Given the description of an element on the screen output the (x, y) to click on. 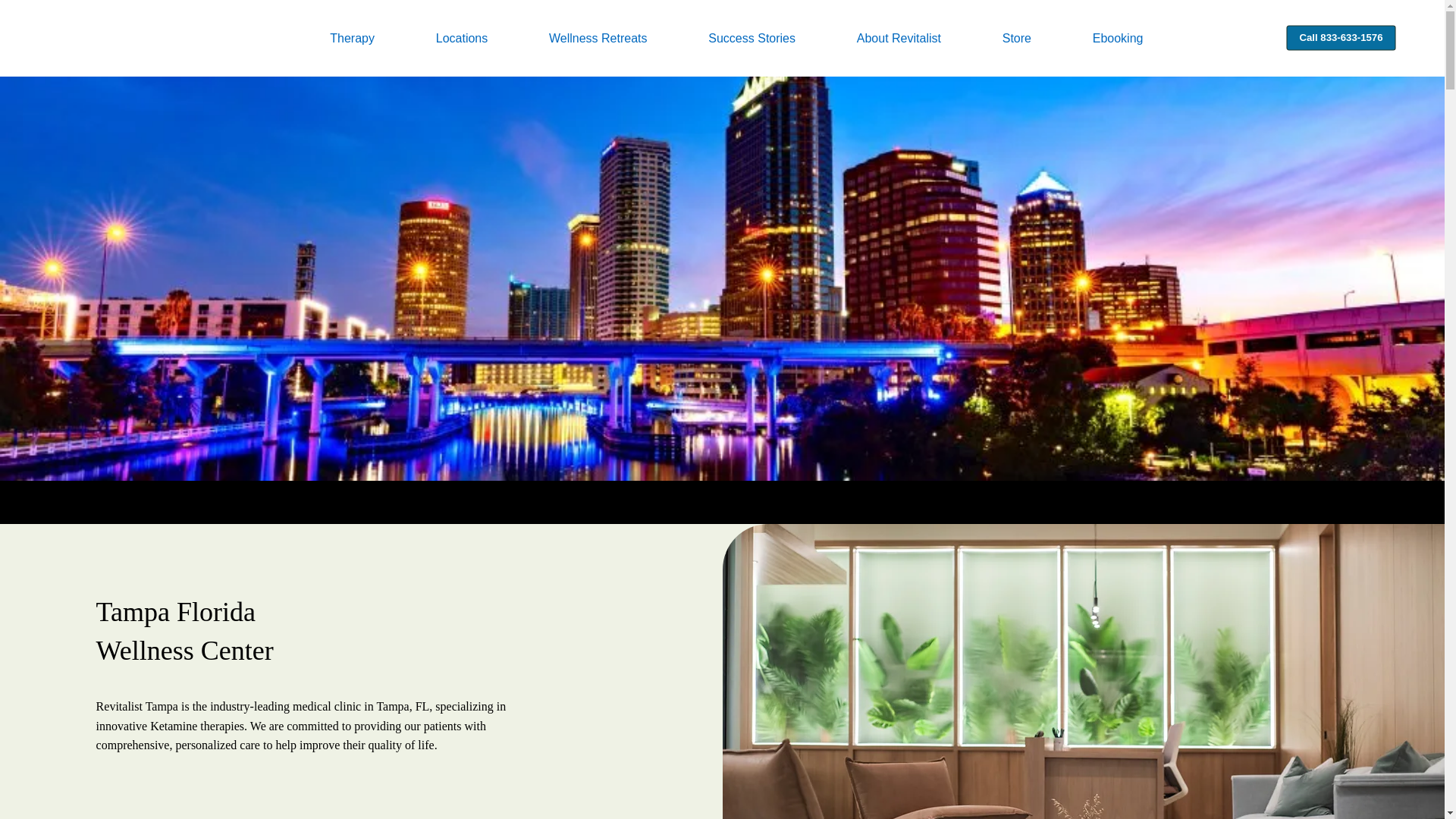
Wellness Retreats (627, 37)
Locations (491, 37)
About Revitalist (928, 37)
Success Stories (781, 37)
Ebooking (1148, 37)
Therapy (381, 37)
Call 833-633-1576 (1336, 36)
Store (1046, 37)
